Given the description of an element on the screen output the (x, y) to click on. 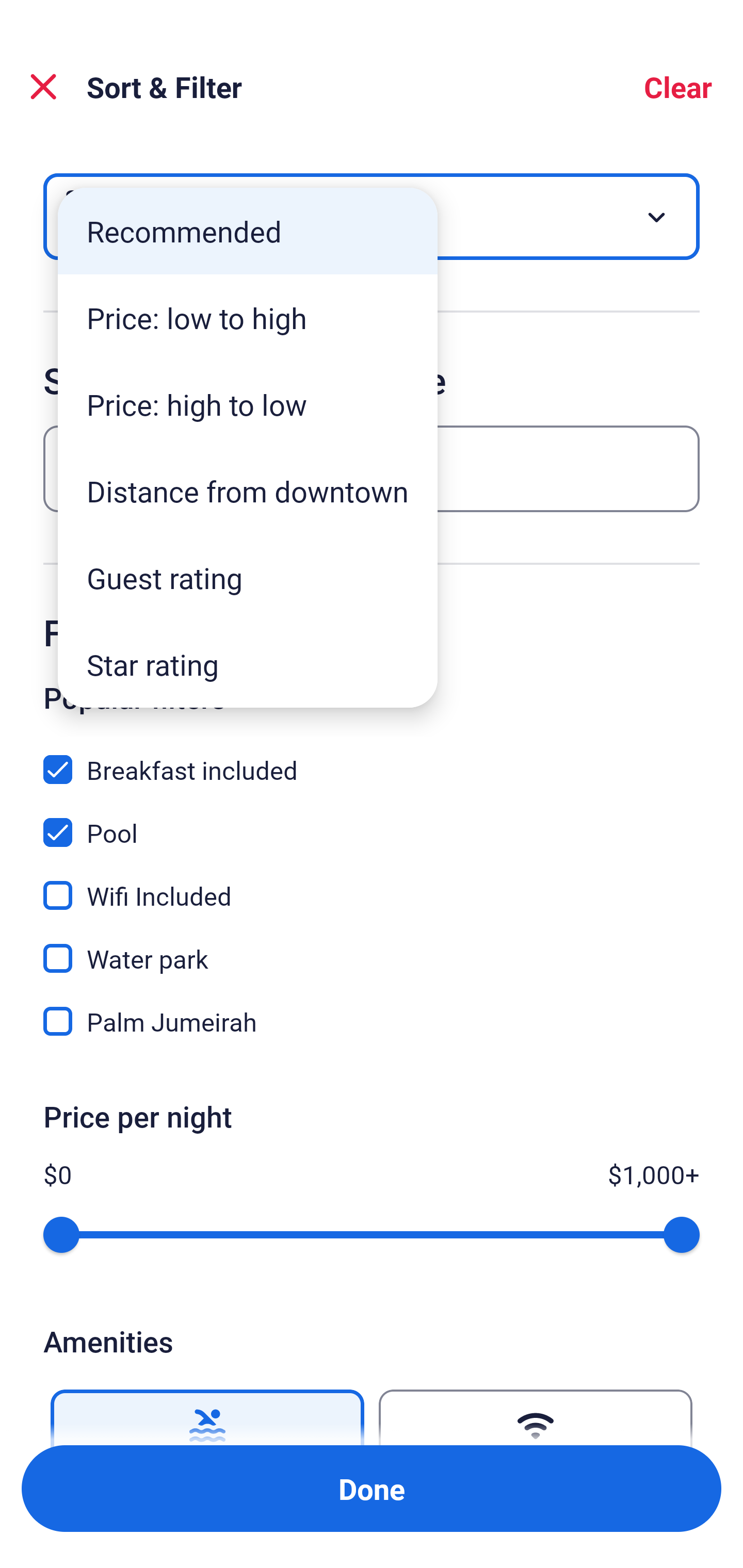
Price: low to high (247, 317)
Price: high to low (247, 404)
Distance from downtown (247, 491)
Guest rating (247, 577)
Star rating (247, 663)
